Given the description of an element on the screen output the (x, y) to click on. 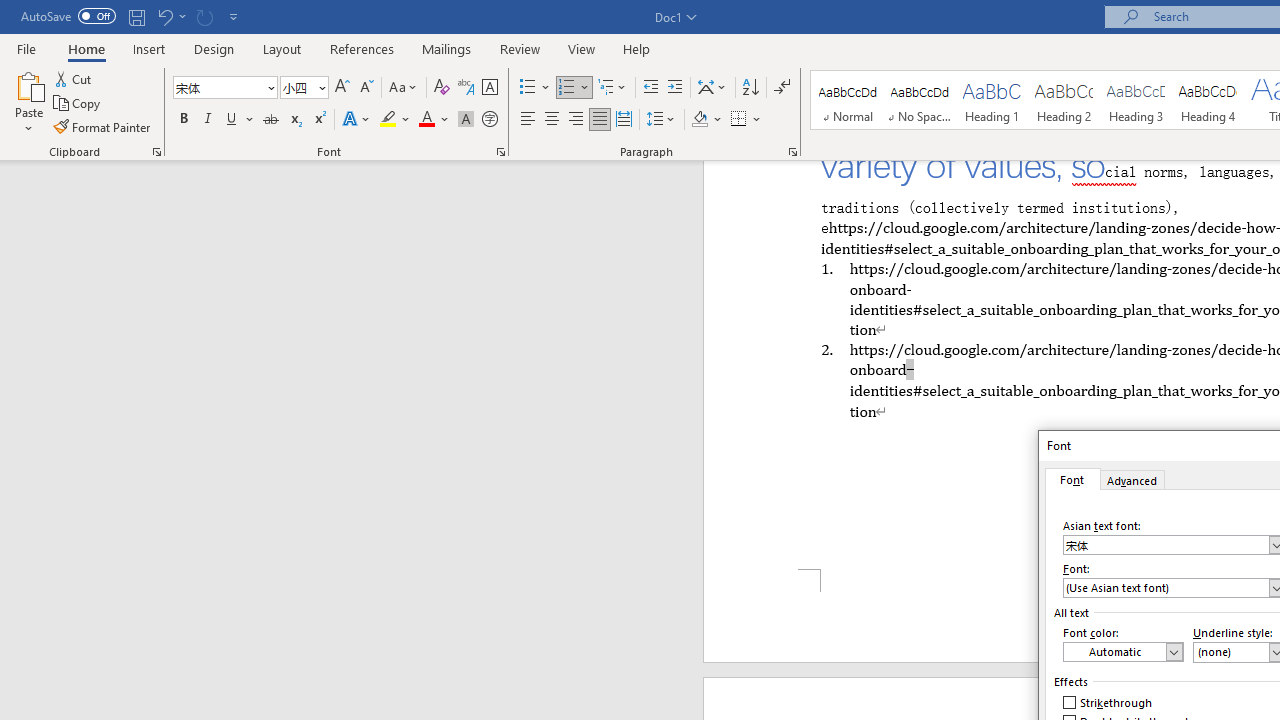
Underline (239, 119)
Customize Quick Access Toolbar (234, 15)
Design (214, 48)
Italic (207, 119)
References (362, 48)
Superscript (319, 119)
Increase Indent (675, 87)
Review (520, 48)
Subscript (294, 119)
Font... (500, 151)
View (582, 48)
Cut (73, 78)
Shading RGB(0, 0, 0) (699, 119)
RichEdit Control (1166, 587)
Format Painter (103, 126)
